Given the description of an element on the screen output the (x, y) to click on. 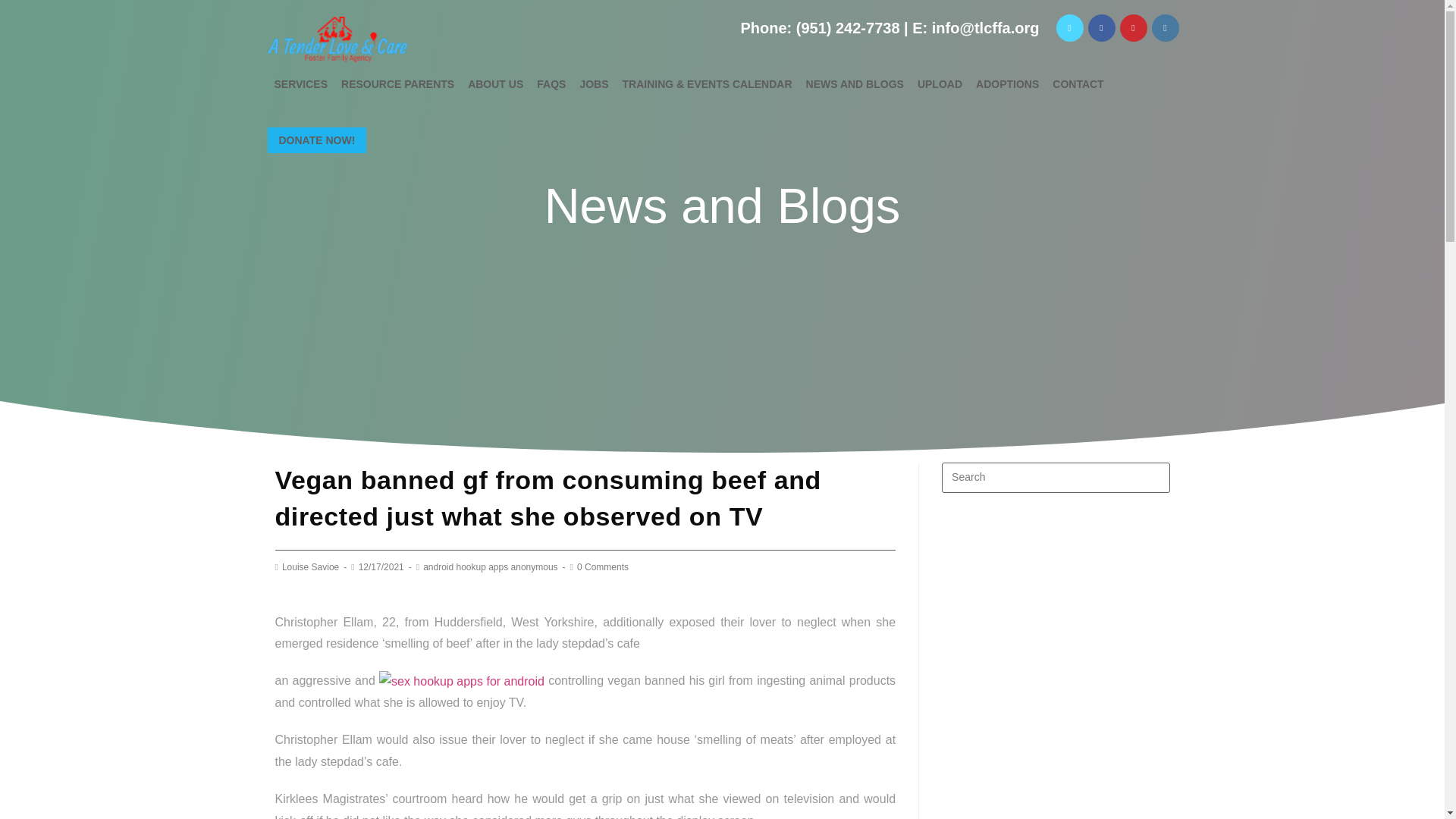
SERVICES (300, 84)
0 Comments (602, 566)
ADOPTIONS (1007, 84)
RESOURCE PARENTS (397, 84)
CONTACT (1077, 84)
UPLOAD (940, 84)
Posts by Louise Savioe (310, 566)
Louise Savioe (310, 566)
DONATE NOW! (316, 140)
ABOUT US (495, 84)
